Given the description of an element on the screen output the (x, y) to click on. 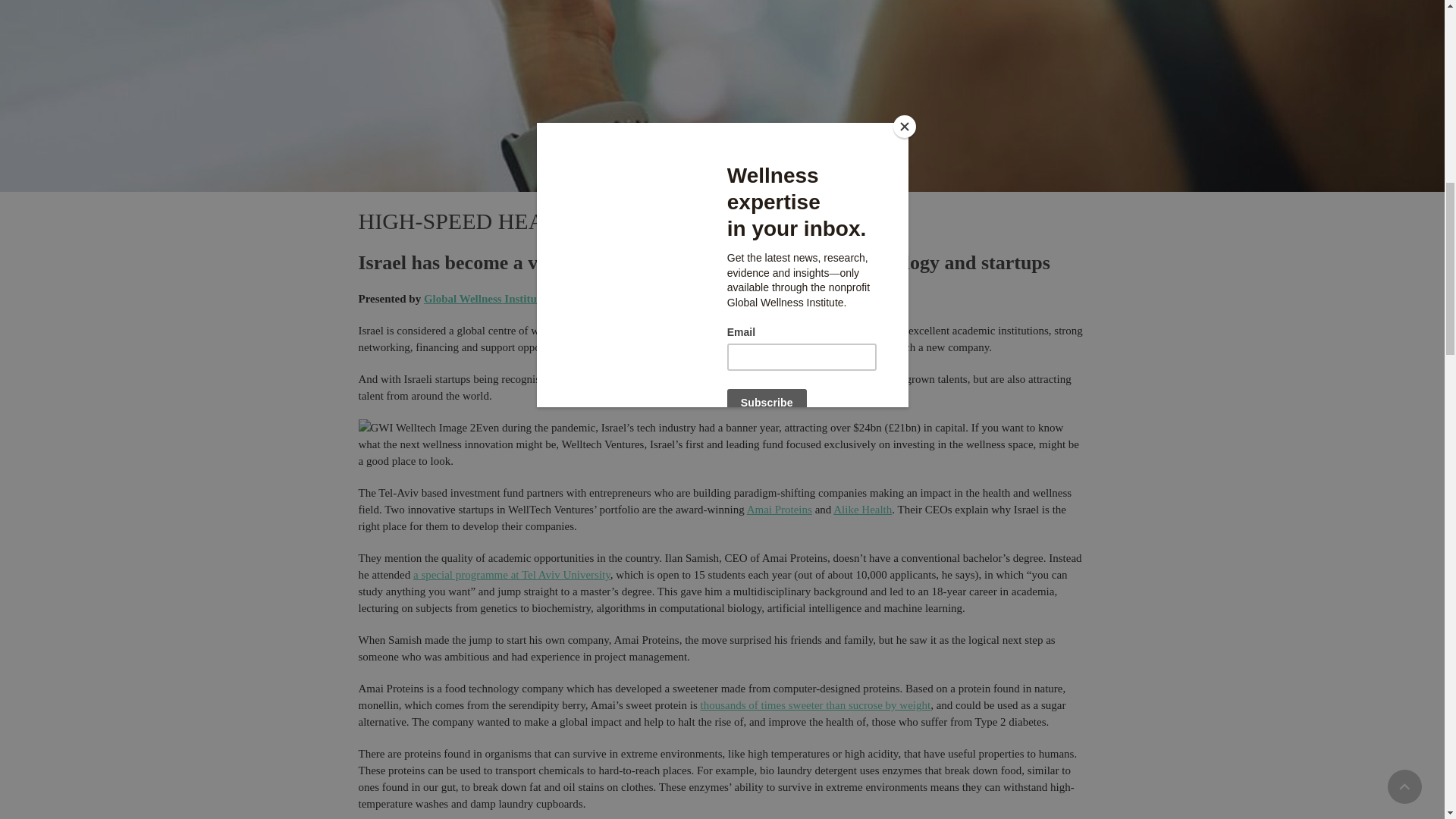
GWI Welltech Image 2 (417, 427)
